Given the description of an element on the screen output the (x, y) to click on. 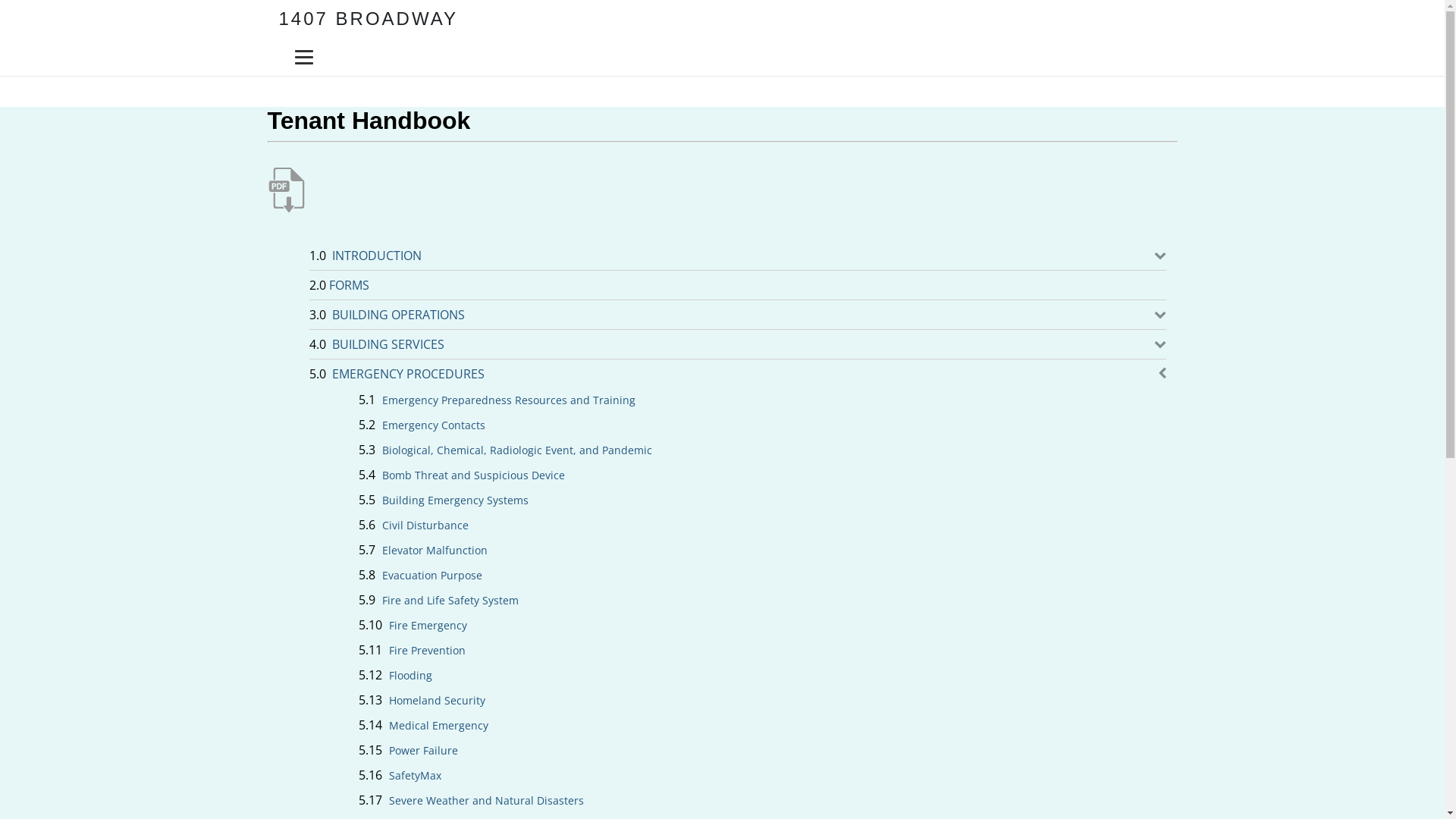
SafetyMax Element type: text (418, 775)
Medical Emergency Element type: text (442, 725)
FORMS Element type: text (353, 284)
Evacuation Purpose Element type: text (434, 575)
Emergency Contacts Element type: text (436, 425)
1407 BROADWAY Element type: text (368, 18)
Fire and Life Safety System Element type: text (453, 600)
Flooding Element type: text (414, 675)
Download Tenant Handbook (PDF) Element type: hover (285, 191)
Civil Disturbance Element type: text (428, 525)
Fire Emergency Element type: text (431, 625)
EMERGENCY PROCEDURES Element type: text (412, 373)
BUILDING SERVICES Element type: text (392, 343)
Biological, Chemical, Radiologic Event, and Pandemic Element type: text (519, 450)
Elevator Malfunction Element type: text (437, 550)
INTRODUCTION Element type: text (381, 255)
BUILDING OPERATIONS Element type: text (402, 314)
Emergency Preparedness Resources and Training Element type: text (511, 400)
Building Emergency Systems Element type: text (458, 500)
Homeland Security Element type: text (440, 700)
Severe Weather and Natural Disasters Element type: text (490, 800)
Power Failure Element type: text (427, 750)
Fire Prevention Element type: text (430, 650)
Bomb Threat and Suspicious Device Element type: text (476, 475)
